Given the description of an element on the screen output the (x, y) to click on. 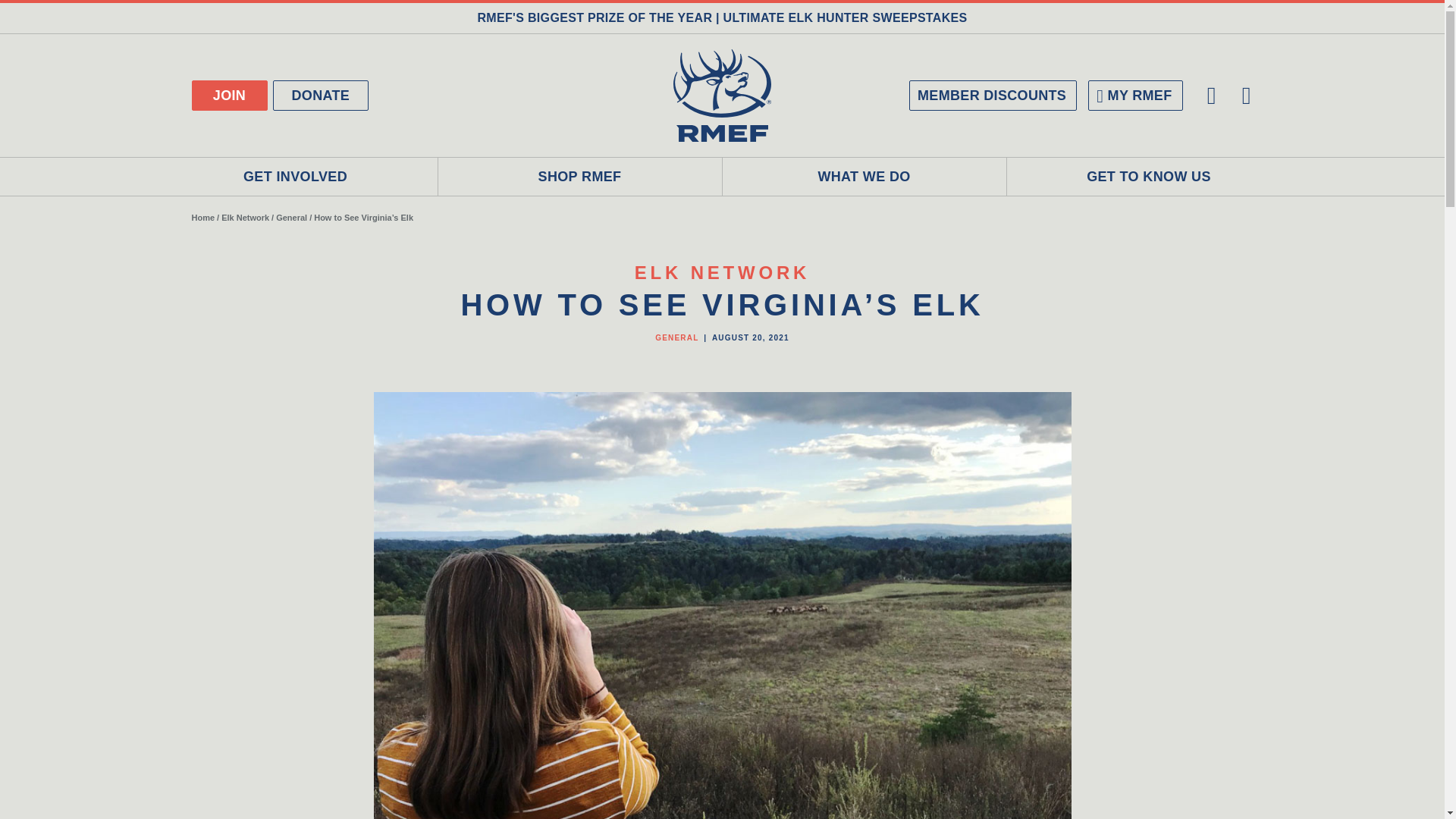
WHAT WE DO (864, 176)
GET INVOLVED (295, 176)
JOIN (228, 95)
DONATE (321, 95)
MEMBER DISCOUNTS (992, 95)
GET TO KNOW US (1149, 176)
MY RMEF (1134, 95)
SHOP RMEF (580, 176)
